Given the description of an element on the screen output the (x, y) to click on. 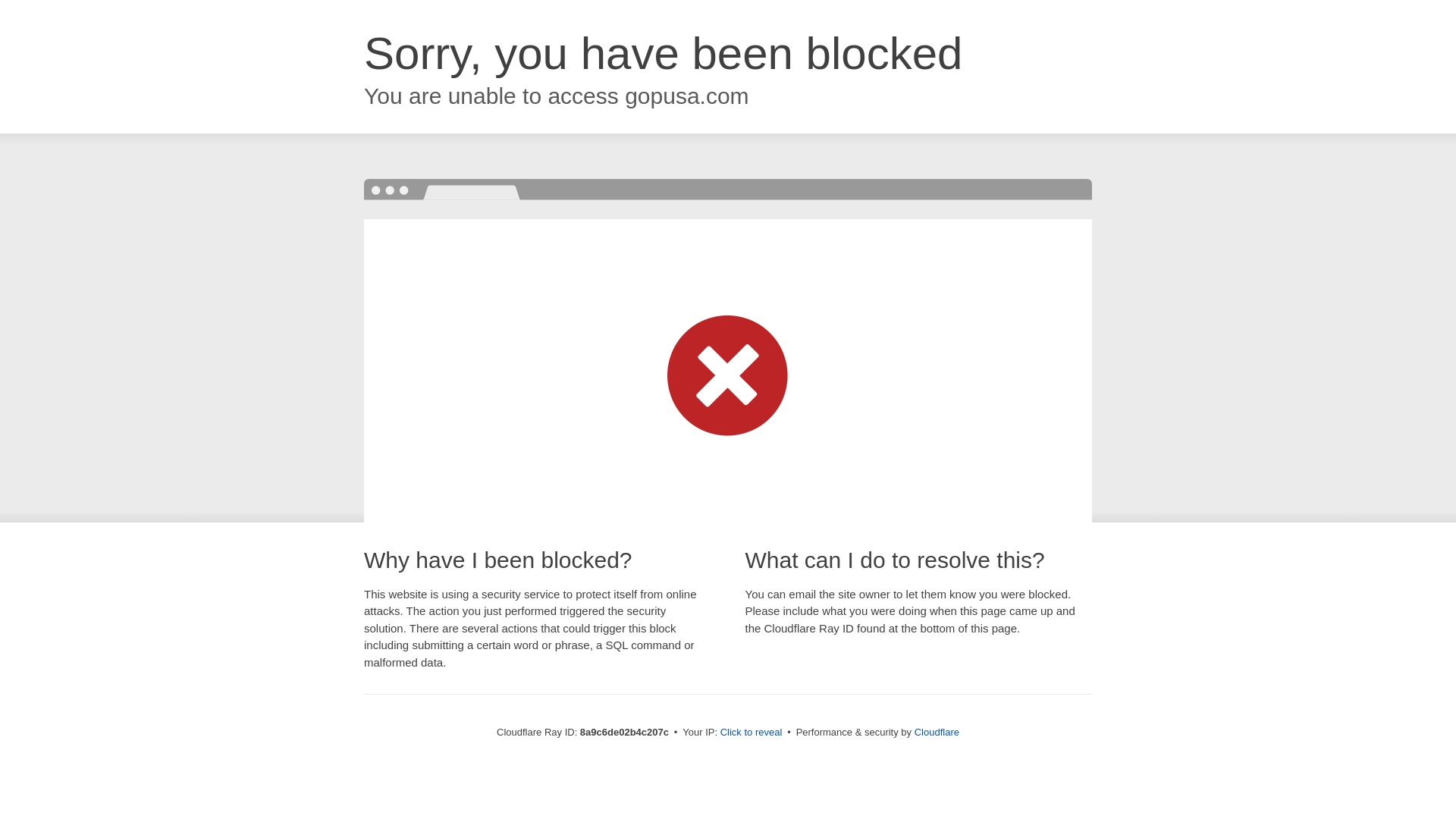
Cloudflare (936, 731)
Click to reveal (751, 732)
